Given the description of an element on the screen output the (x, y) to click on. 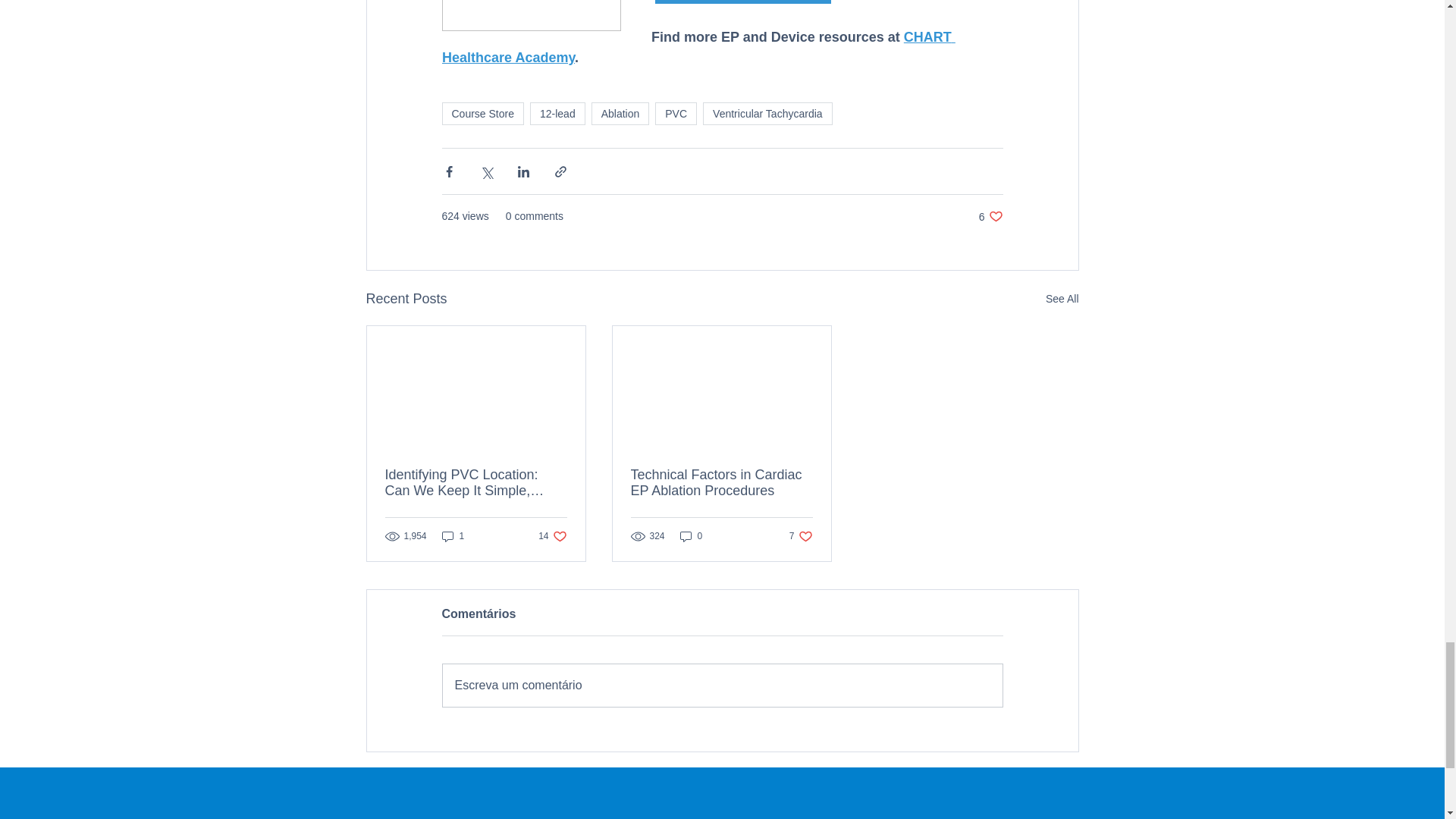
Ablation (620, 113)
Ventricular Tachycardia (767, 113)
12-lead (557, 113)
PVC (676, 113)
Course Store (481, 113)
CHART Healthcare Academy (698, 46)
EP Pro: PVC Localization Course (743, 1)
